Given the description of an element on the screen output the (x, y) to click on. 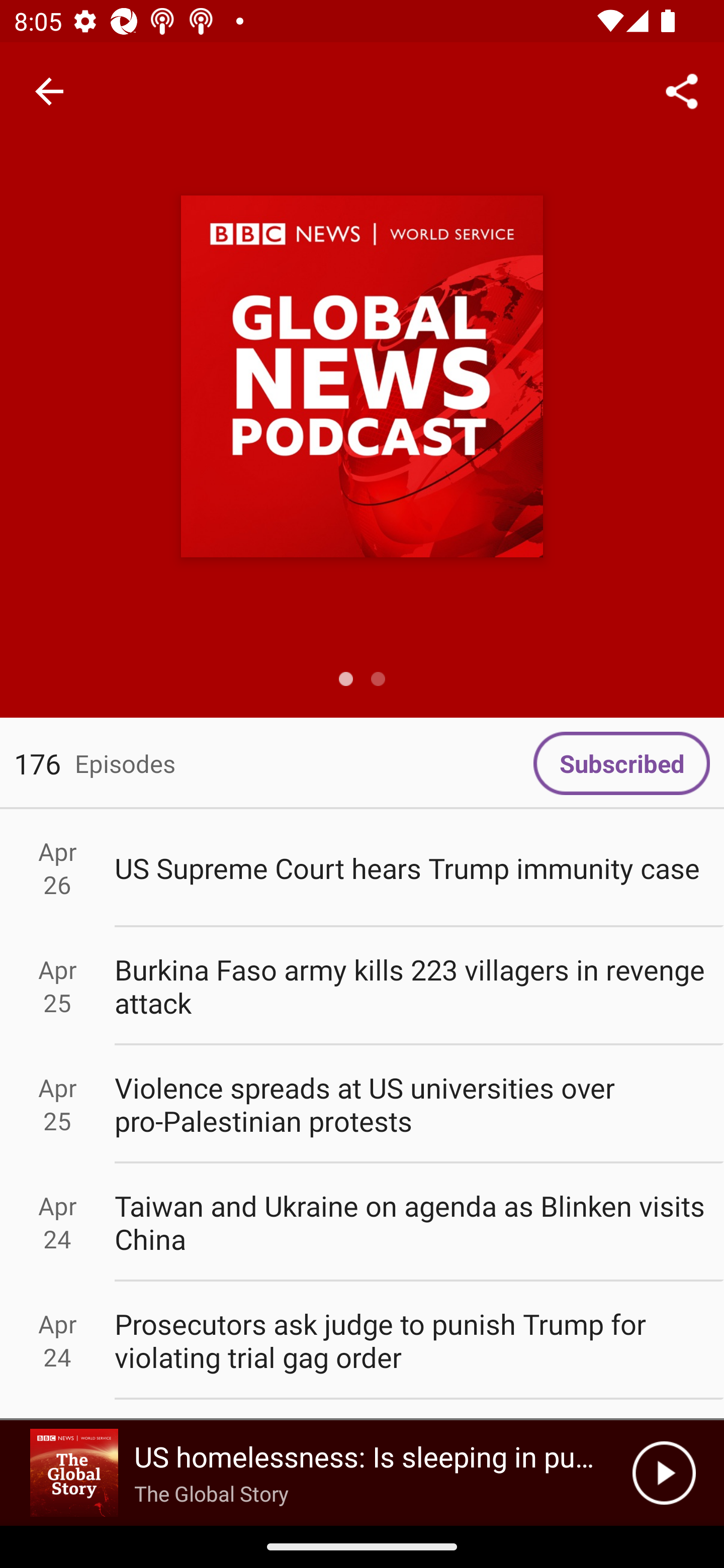
Navigate up (49, 91)
Share... (681, 90)
Subscribed (621, 763)
Apr 26 US Supreme Court hears Trump immunity case (362, 867)
Play (663, 1472)
